Given the description of an element on the screen output the (x, y) to click on. 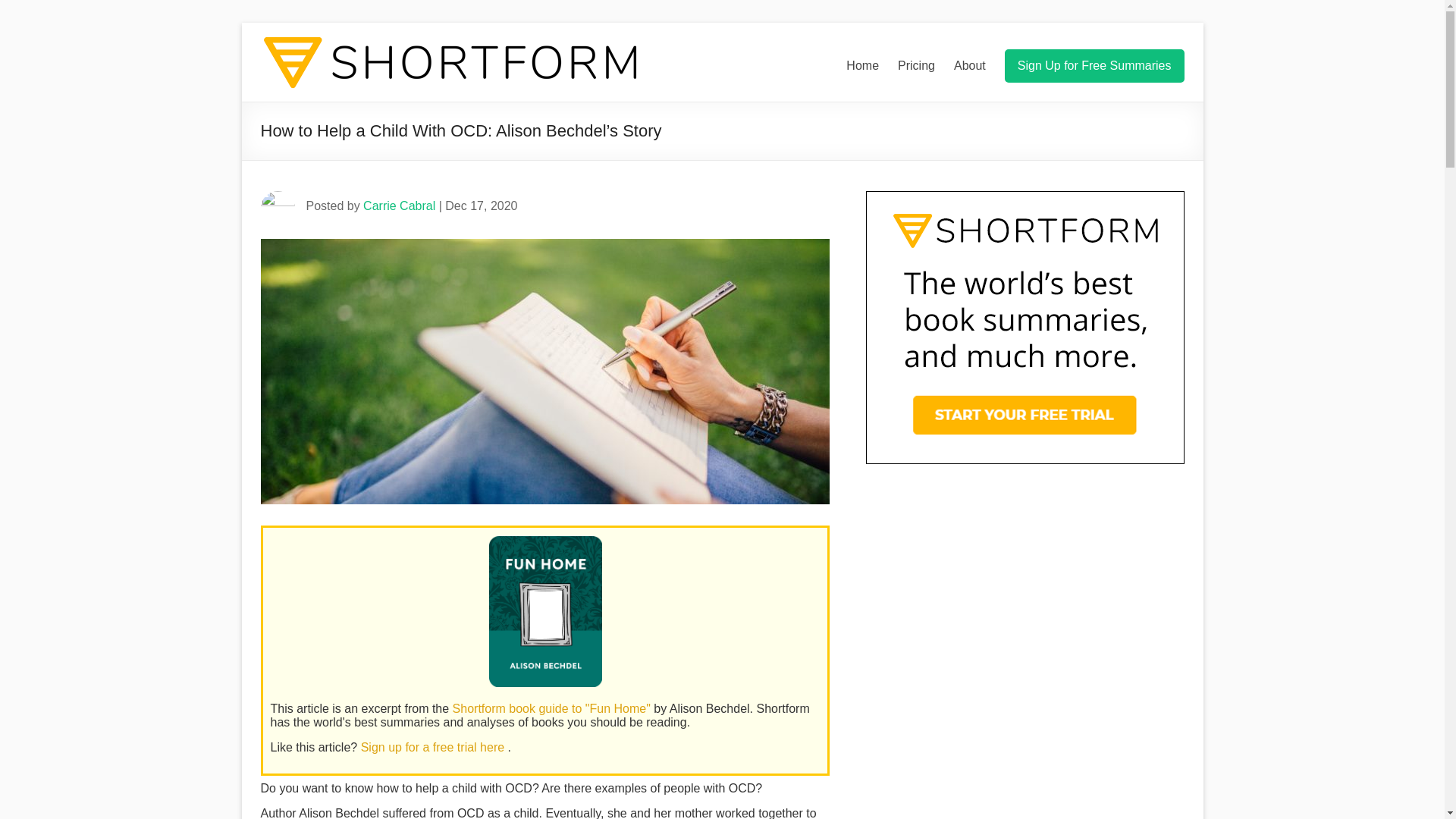
Carrie Cabral (398, 205)
Sign Up for Free Summaries (1094, 65)
Shortform book guide to "Fun Home" (552, 707)
Pricing (916, 65)
Sign up for a free trial here (434, 747)
About (969, 65)
Home (862, 65)
